Given the description of an element on the screen output the (x, y) to click on. 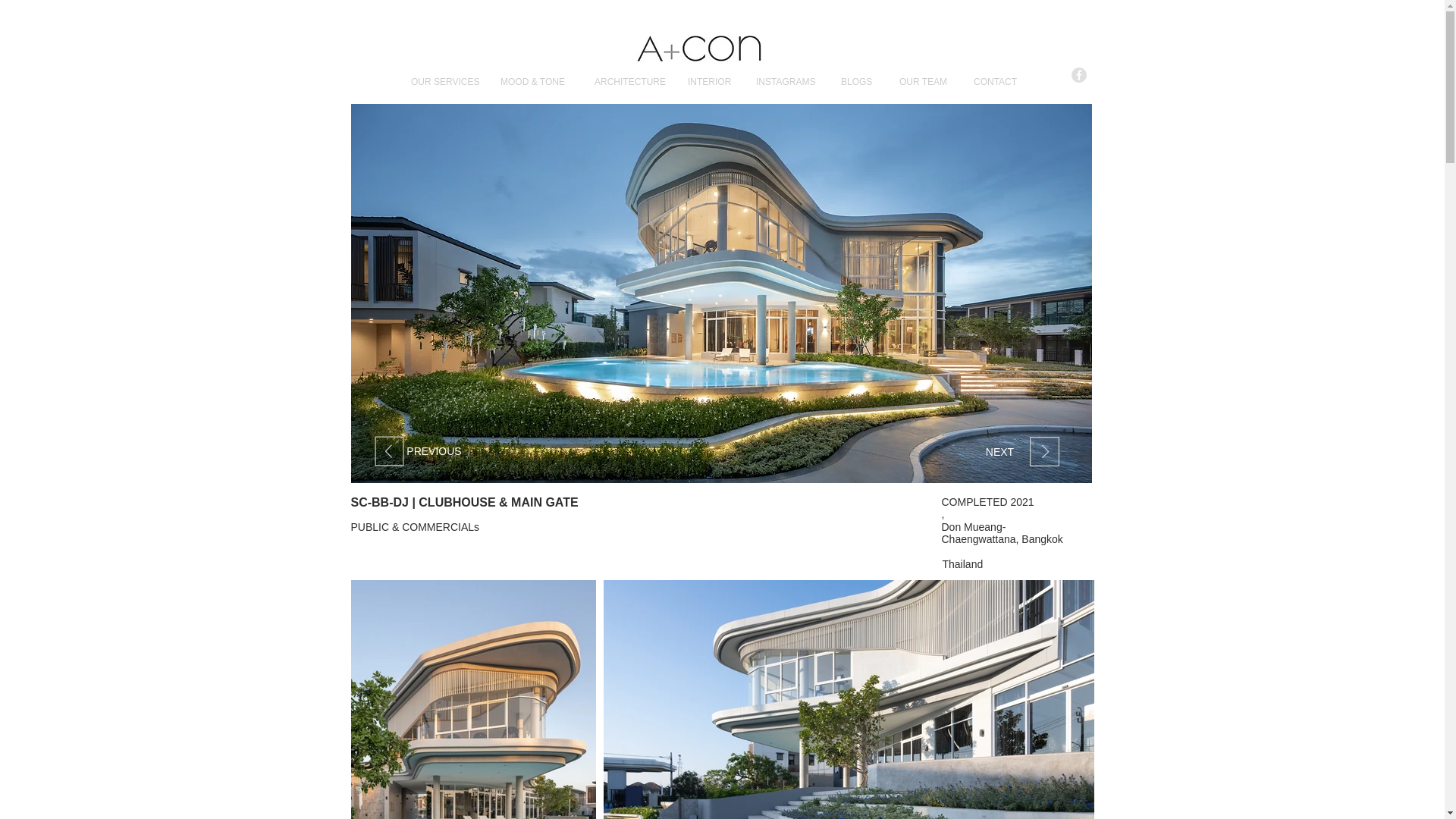
INTERIOR (713, 81)
OUR TEAM (928, 81)
INSTAGRAMS (790, 81)
ARCHITECTURE (632, 81)
NEXT (999, 452)
OUR SERVICES (448, 81)
PREVIOUS (433, 451)
CONTACT (1001, 81)
BLOGS (861, 81)
